Given the description of an element on the screen output the (x, y) to click on. 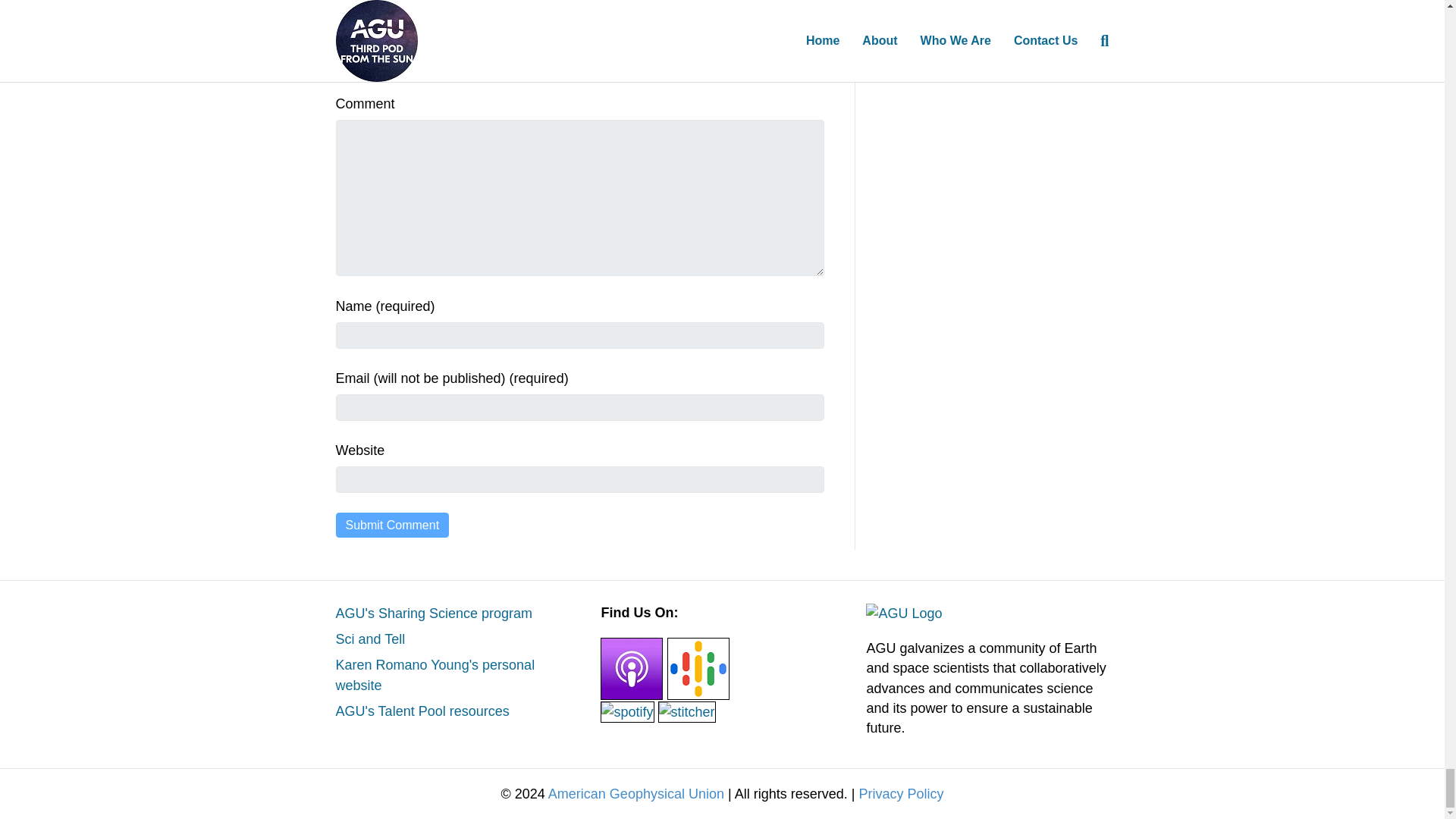
Submit Comment (391, 524)
